Given the description of an element on the screen output the (x, y) to click on. 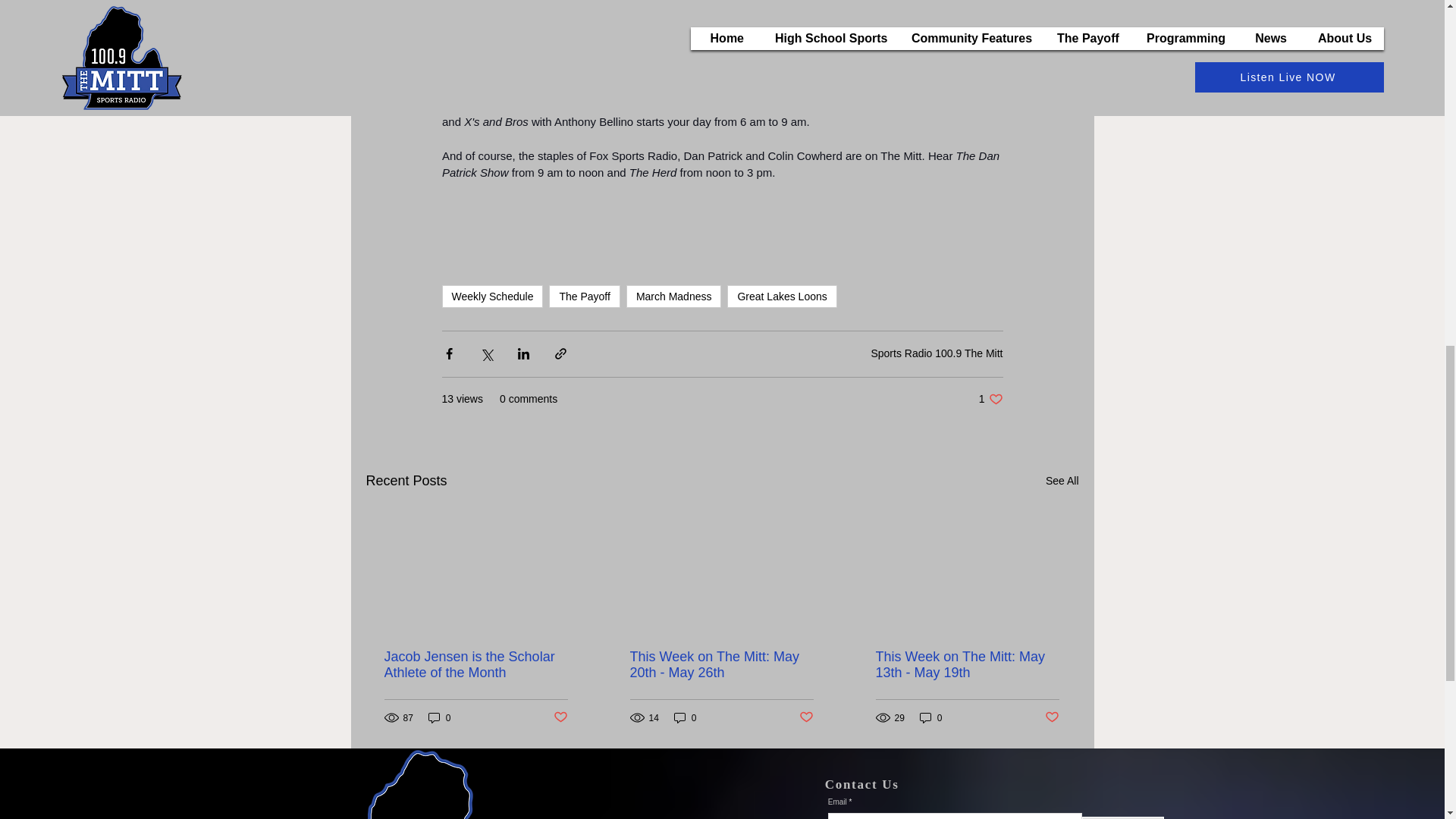
March Madness (990, 399)
Weekly Schedule (674, 296)
Jacob Jensen is the Scholar Athlete of the Month (492, 296)
Sports Radio 100.9 The Mitt (475, 664)
Great Lakes Loons (936, 353)
Post not marked as liked (780, 296)
The Payoff (560, 717)
See All (584, 296)
0 (1061, 481)
